Given the description of an element on the screen output the (x, y) to click on. 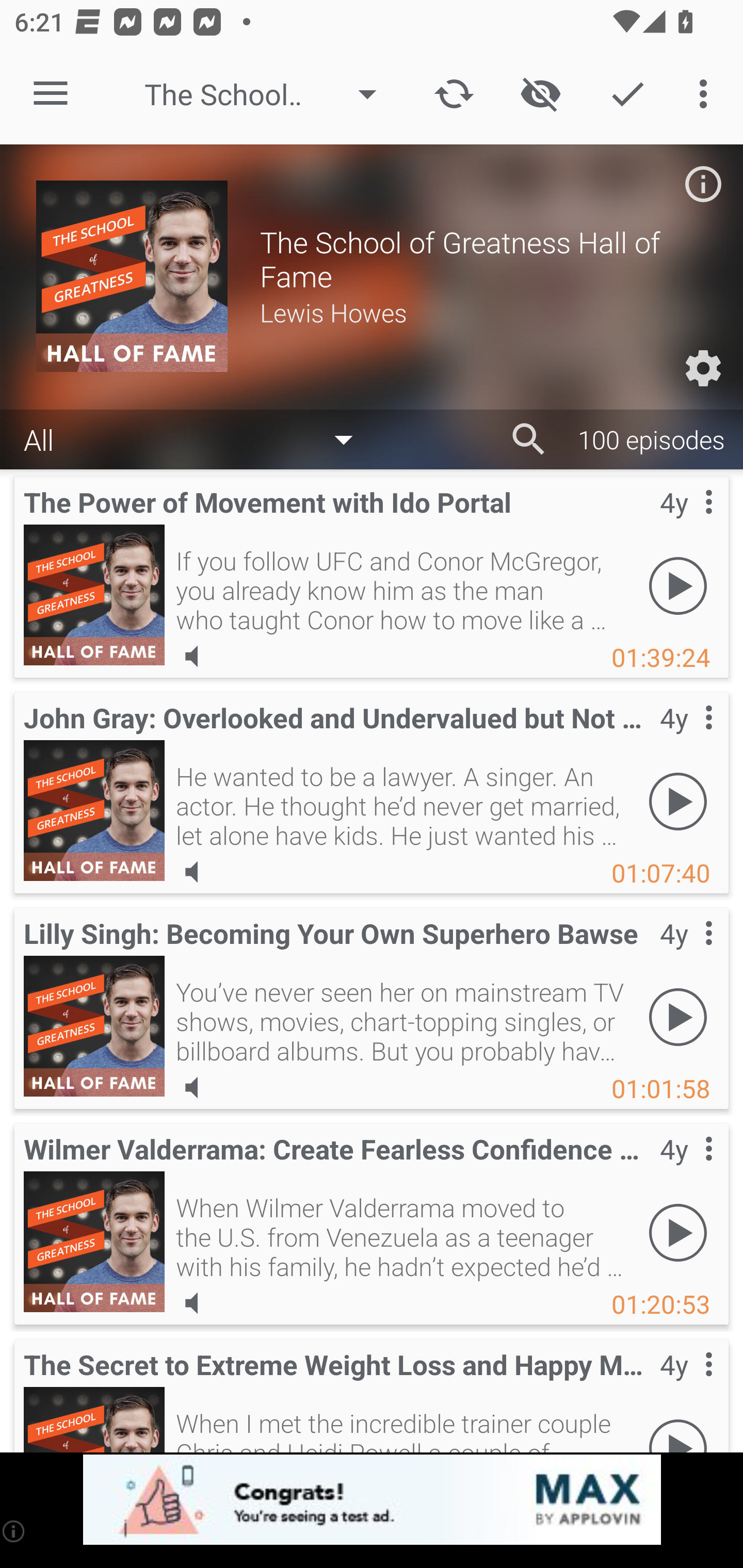
Open navigation sidebar (50, 93)
Update (453, 93)
Show / Hide played content (540, 93)
Action Mode (626, 93)
More options (706, 93)
The School of Greatness Hall of Fame (270, 94)
Podcast description (703, 184)
Lewis Howes (483, 311)
Custom Settings (703, 368)
Search (528, 439)
All (197, 438)
Contextual menu (685, 522)
The Power of Movement with Ido Portal (93, 594)
Play (677, 585)
Contextual menu (685, 738)
Play (677, 801)
Contextual menu (685, 954)
Lilly Singh: Becoming Your Own Superhero Bawse (93, 1026)
Play (677, 1016)
Contextual menu (685, 1169)
Play (677, 1232)
Contextual menu (685, 1385)
app-monetization (371, 1500)
(i) (14, 1531)
